Given the description of an element on the screen output the (x, y) to click on. 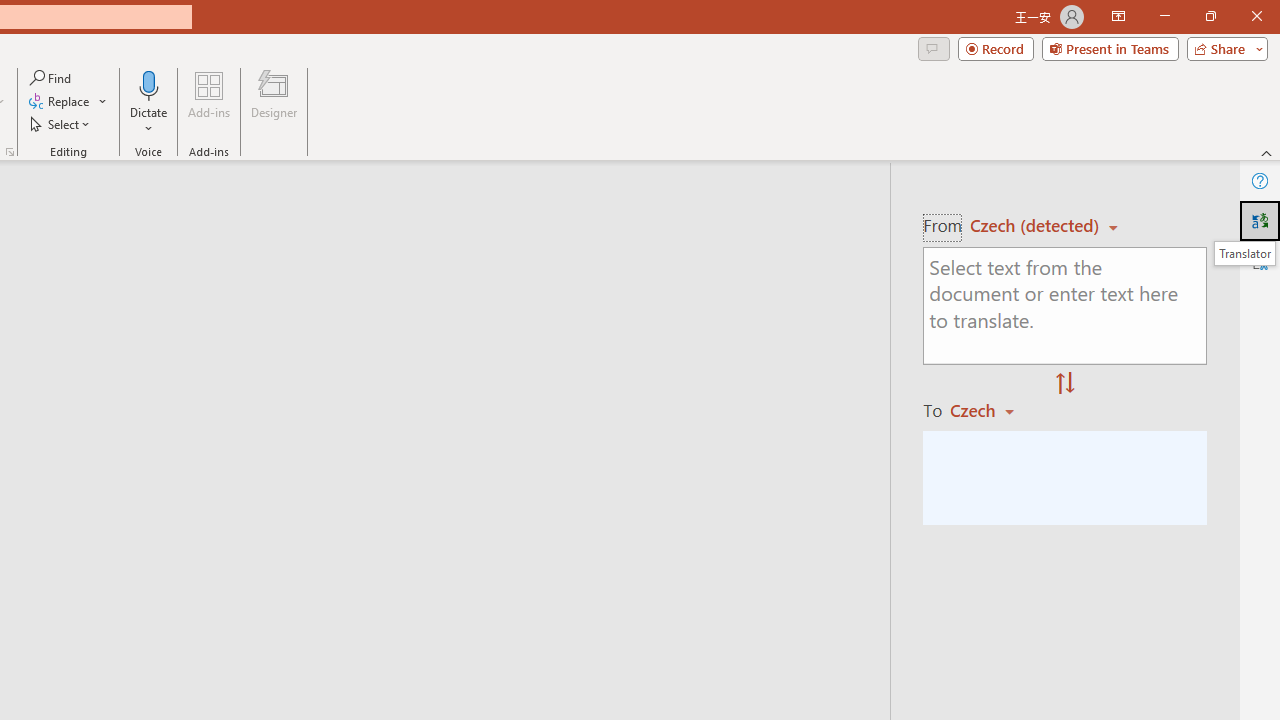
Czech (991, 409)
Replace... (68, 101)
Format Object... (9, 151)
Present in Teams (1109, 48)
Accessibility (1260, 260)
Select (61, 124)
Find... (51, 78)
Dictate (149, 102)
Designer (274, 102)
Replace... (60, 101)
Dictate (149, 84)
